Given the description of an element on the screen output the (x, y) to click on. 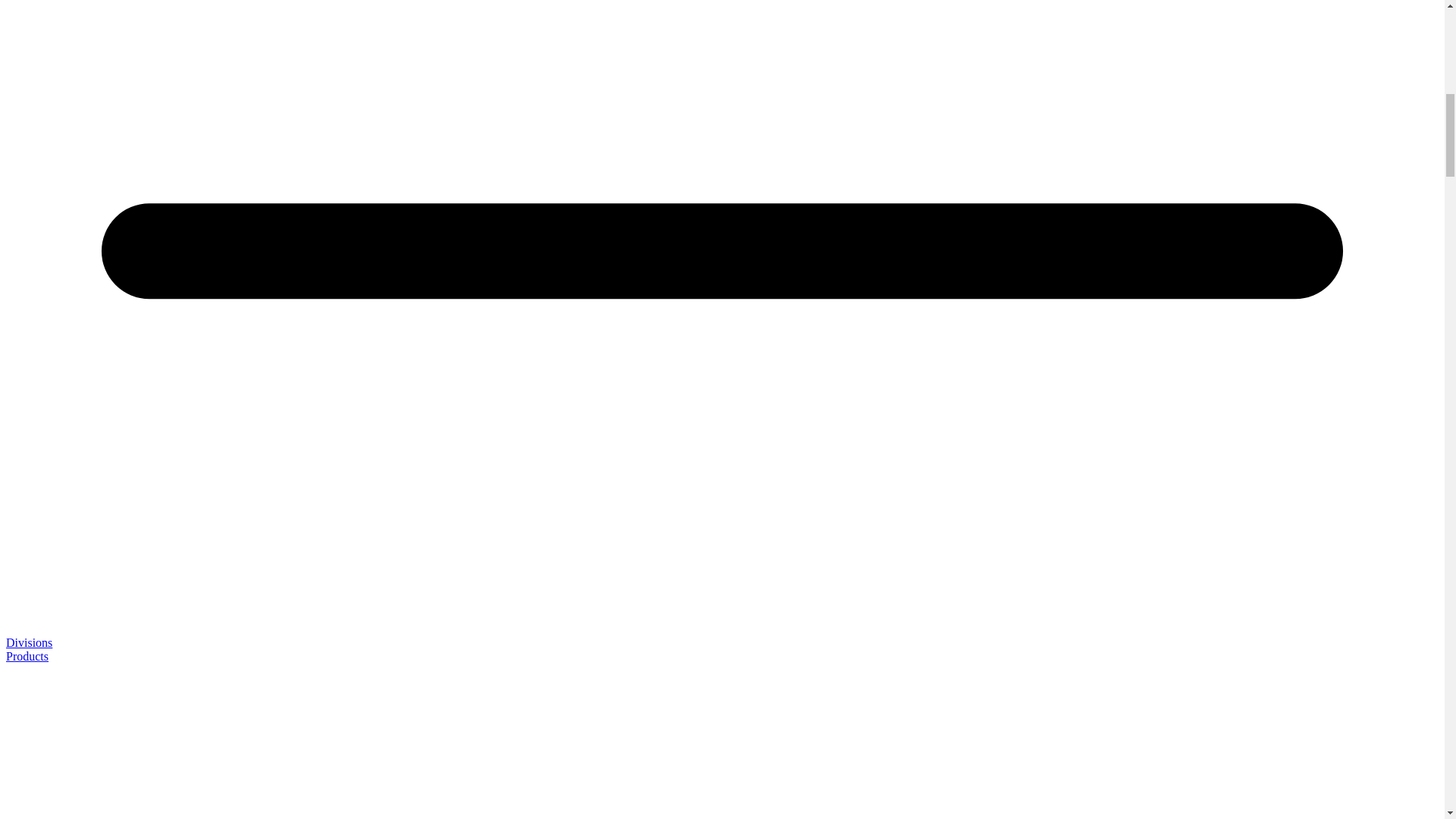
Divisions (28, 642)
Divisions (28, 642)
